Given the description of an element on the screen output the (x, y) to click on. 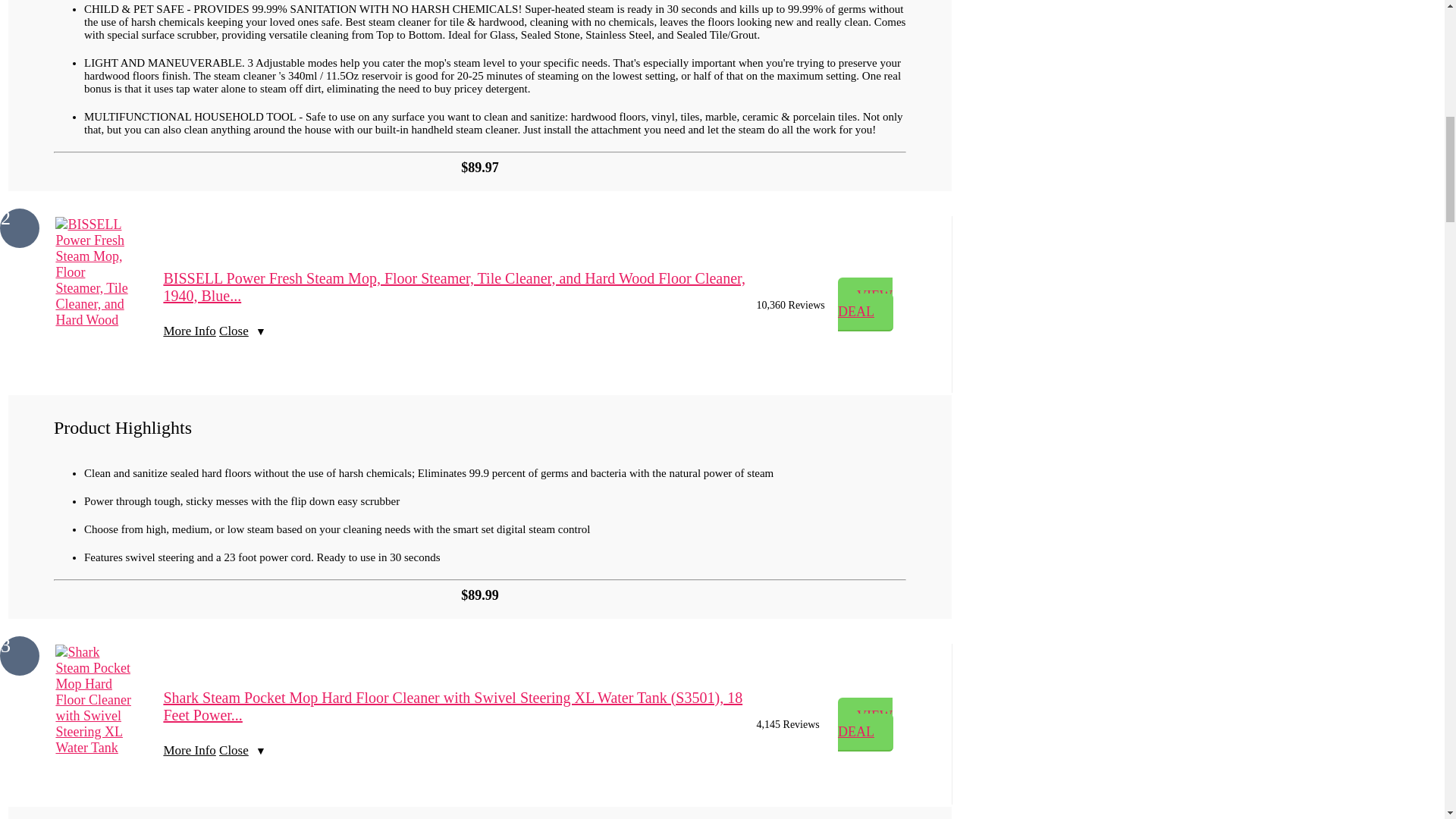
VIEW DEAL (865, 304)
VIEW DEAL (865, 724)
VIEW DEAL (865, 724)
VIEW DEAL (865, 304)
